Given the description of an element on the screen output the (x, y) to click on. 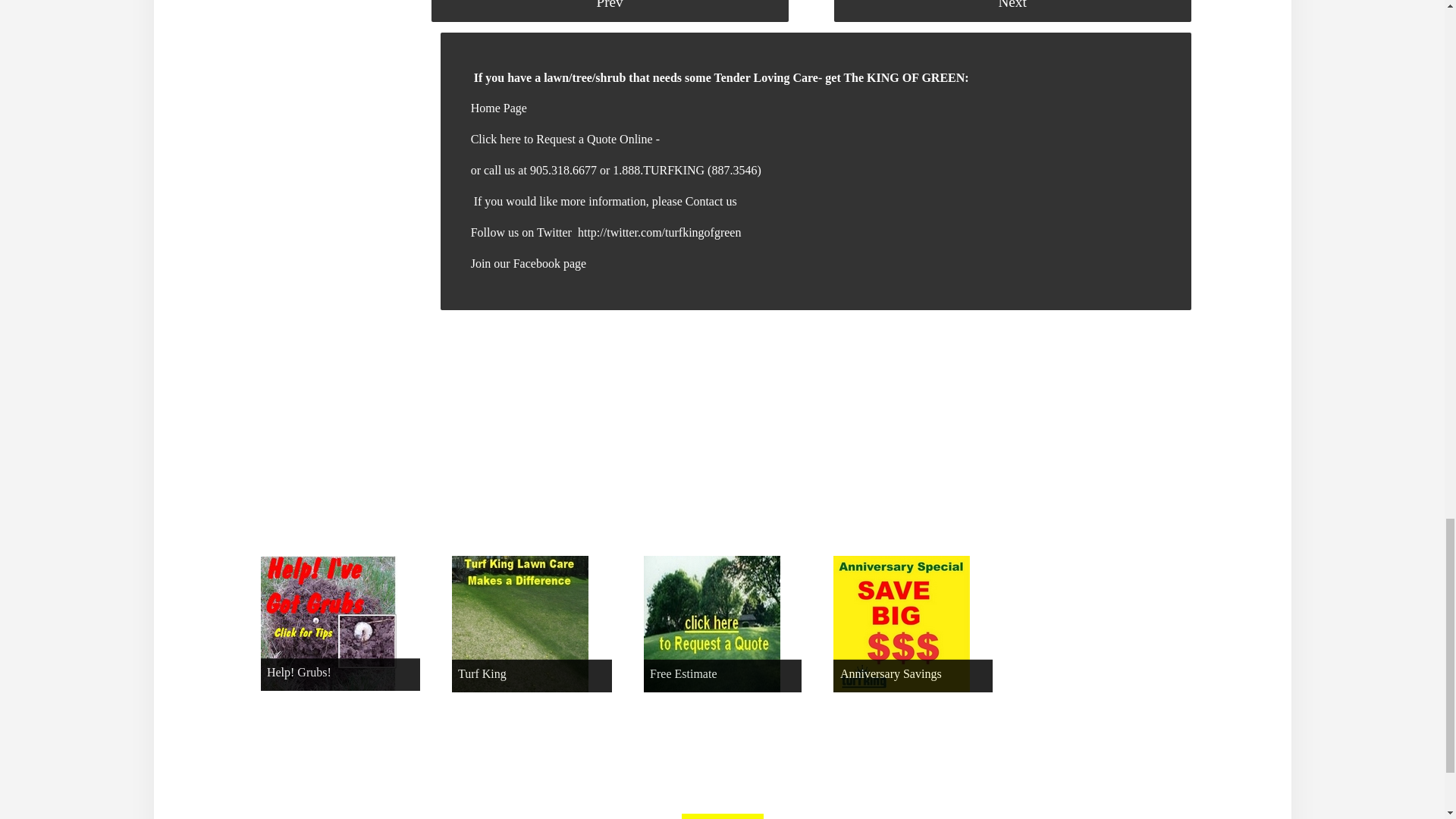
Submit to Twitter (654, 415)
Contact us (710, 201)
Submit to Facebook (551, 415)
Submit to Google Bookmarks (603, 415)
Next (1012, 11)
Click here to Request a Quote Online  (563, 138)
Submit to Digg (499, 415)
Submit to Delicious (448, 415)
Submit to LinkedIn (705, 415)
Prev (609, 11)
Go to the Home Page (498, 107)
Home Page (498, 107)
